Given the description of an element on the screen output the (x, y) to click on. 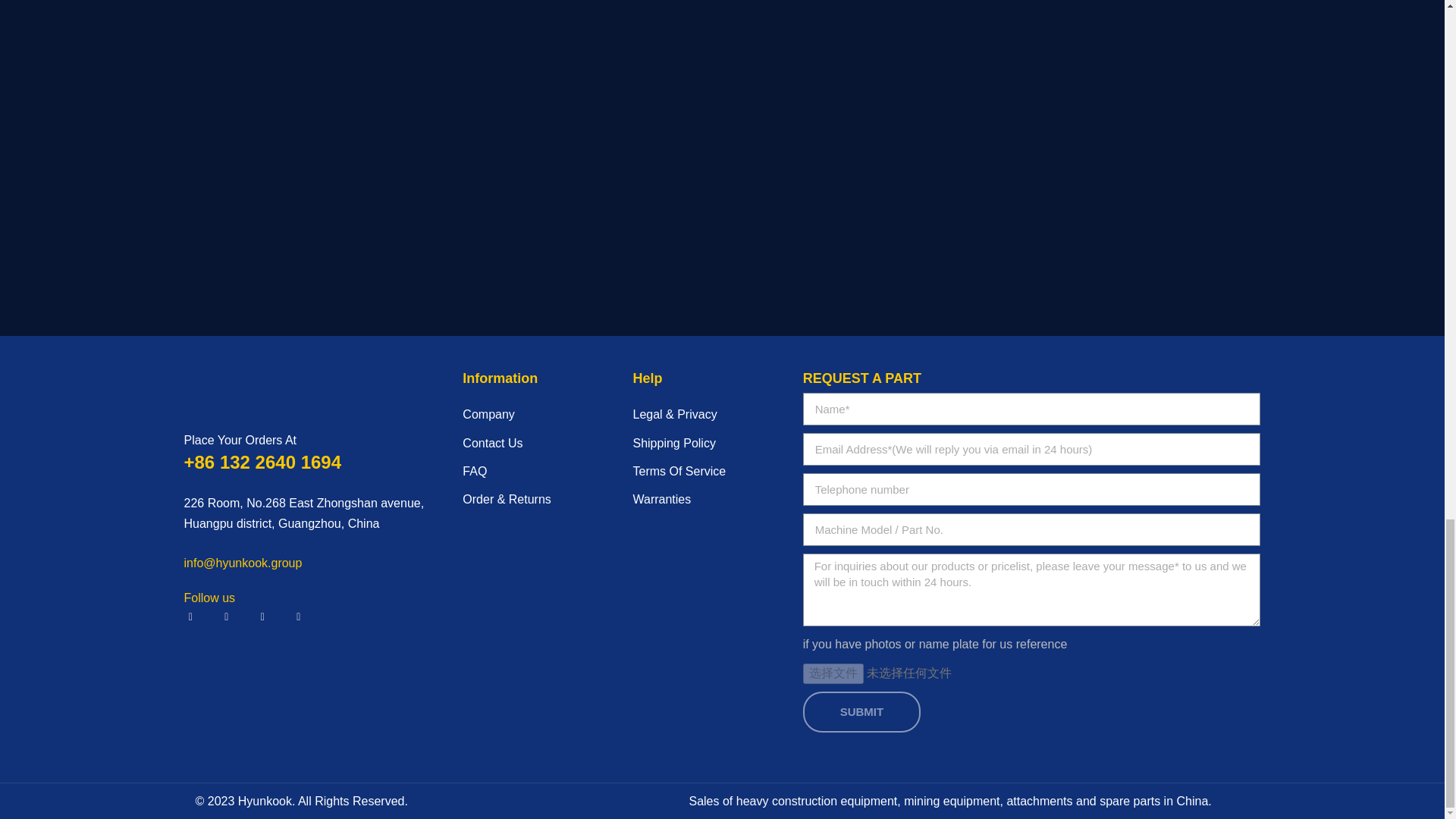
ISO-Certified (316, 268)
Wholesale-Prices (316, 69)
wildNeedAQuote (316, 171)
